Given the description of an element on the screen output the (x, y) to click on. 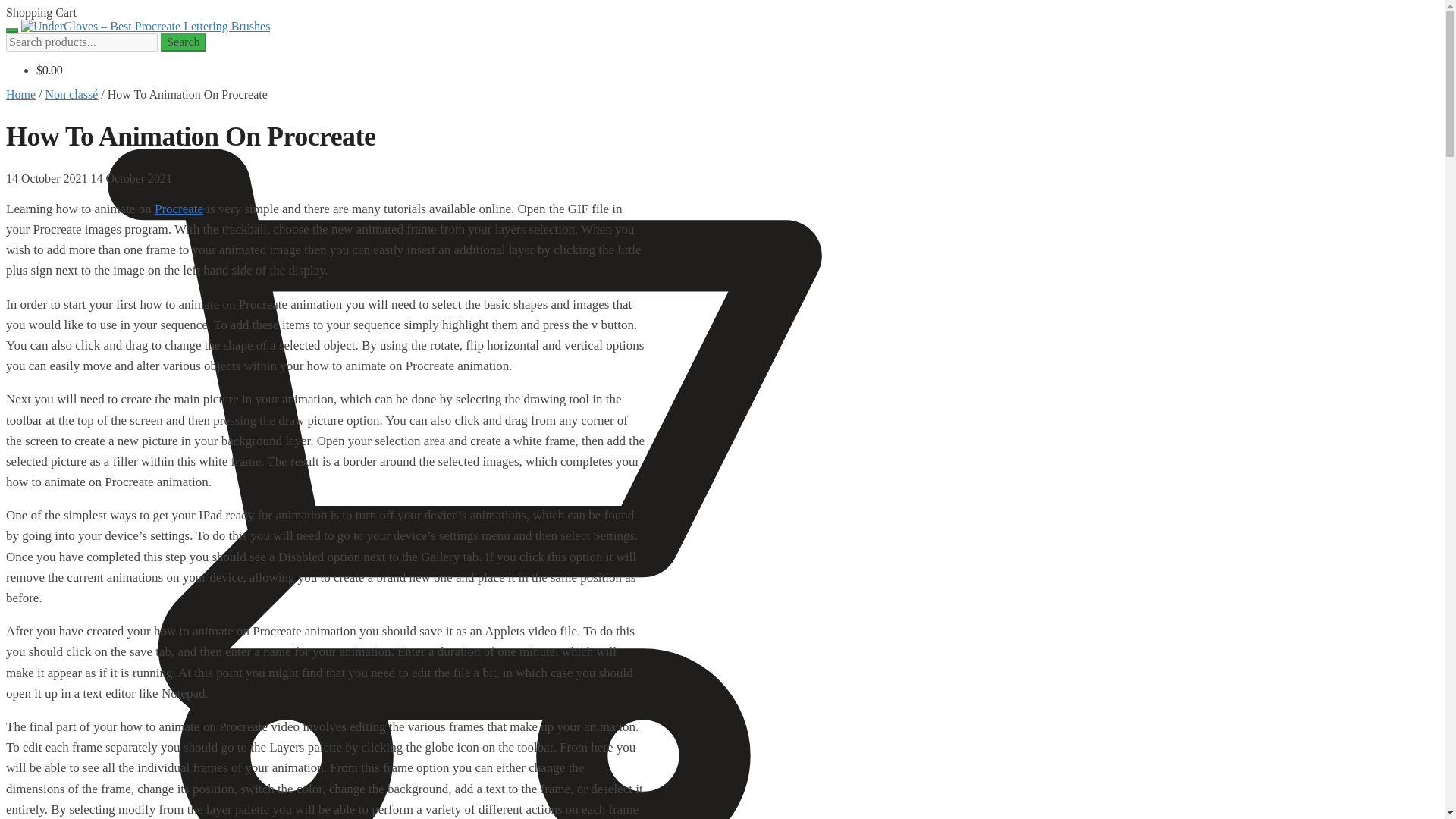
Search (183, 42)
Procreate (178, 208)
Home (19, 93)
